Given the description of an element on the screen output the (x, y) to click on. 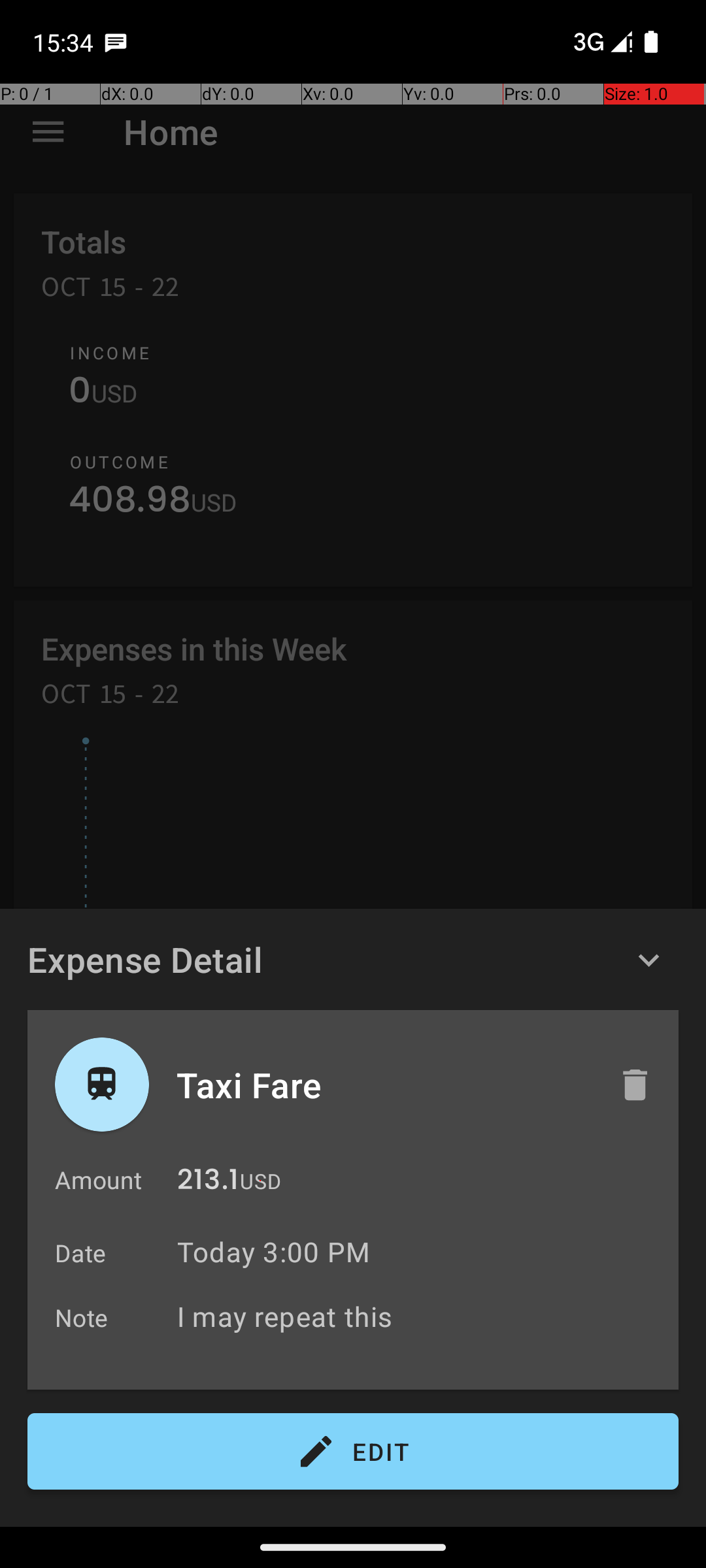
Taxi Fare Element type: android.widget.TextView (383, 1084)
213.1 Element type: android.widget.TextView (207, 1182)
Today 3:00 PM Element type: android.widget.TextView (273, 1251)
